Given the description of an element on the screen output the (x, y) to click on. 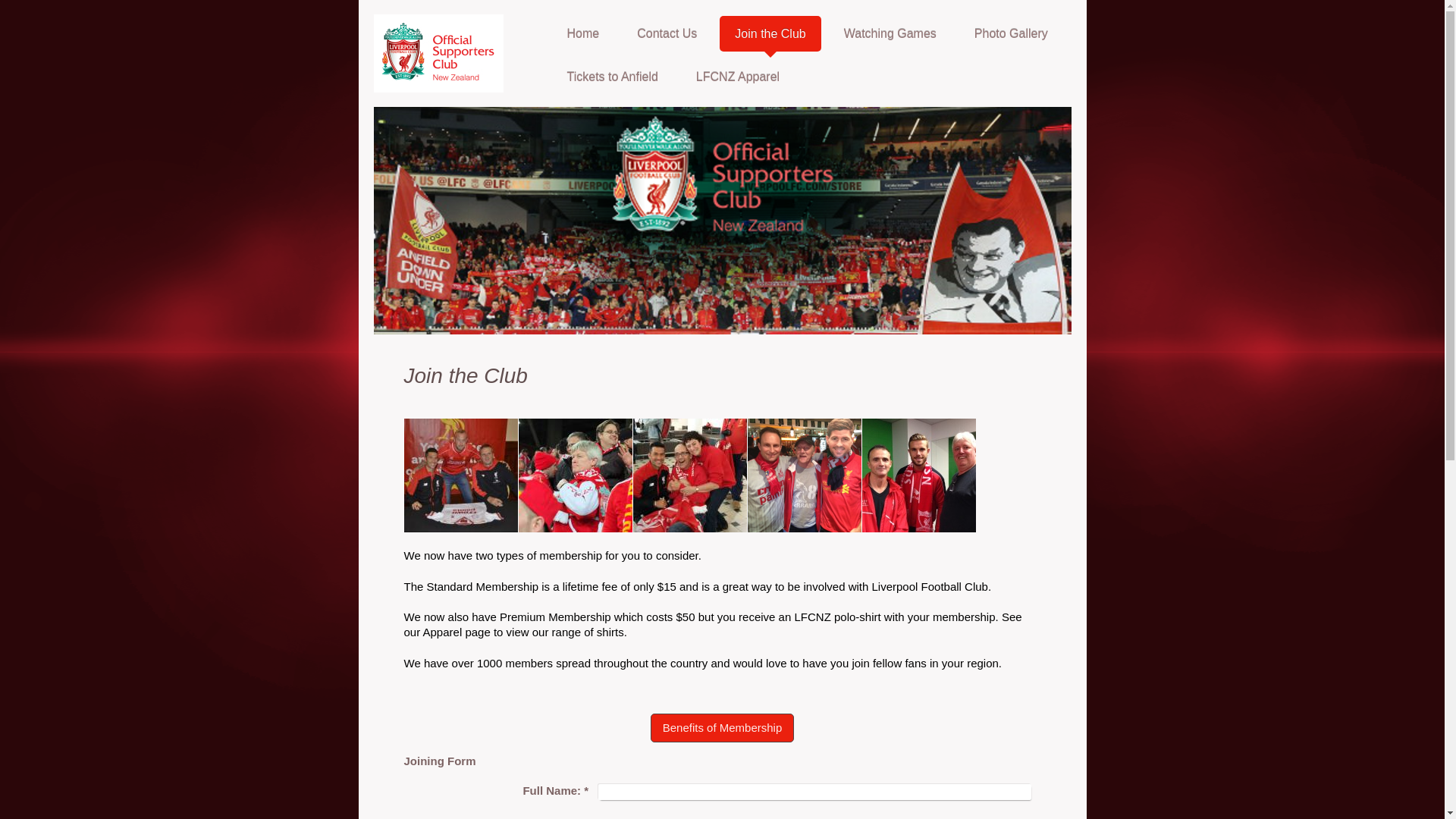
Tickets to Anfield (611, 76)
Home (582, 33)
Join the Club (770, 33)
Watching Games (890, 33)
Benefits of Membership (722, 727)
Contact Us (666, 33)
Photo Gallery (1010, 33)
LFCNZ Apparel (737, 76)
